Given the description of an element on the screen output the (x, y) to click on. 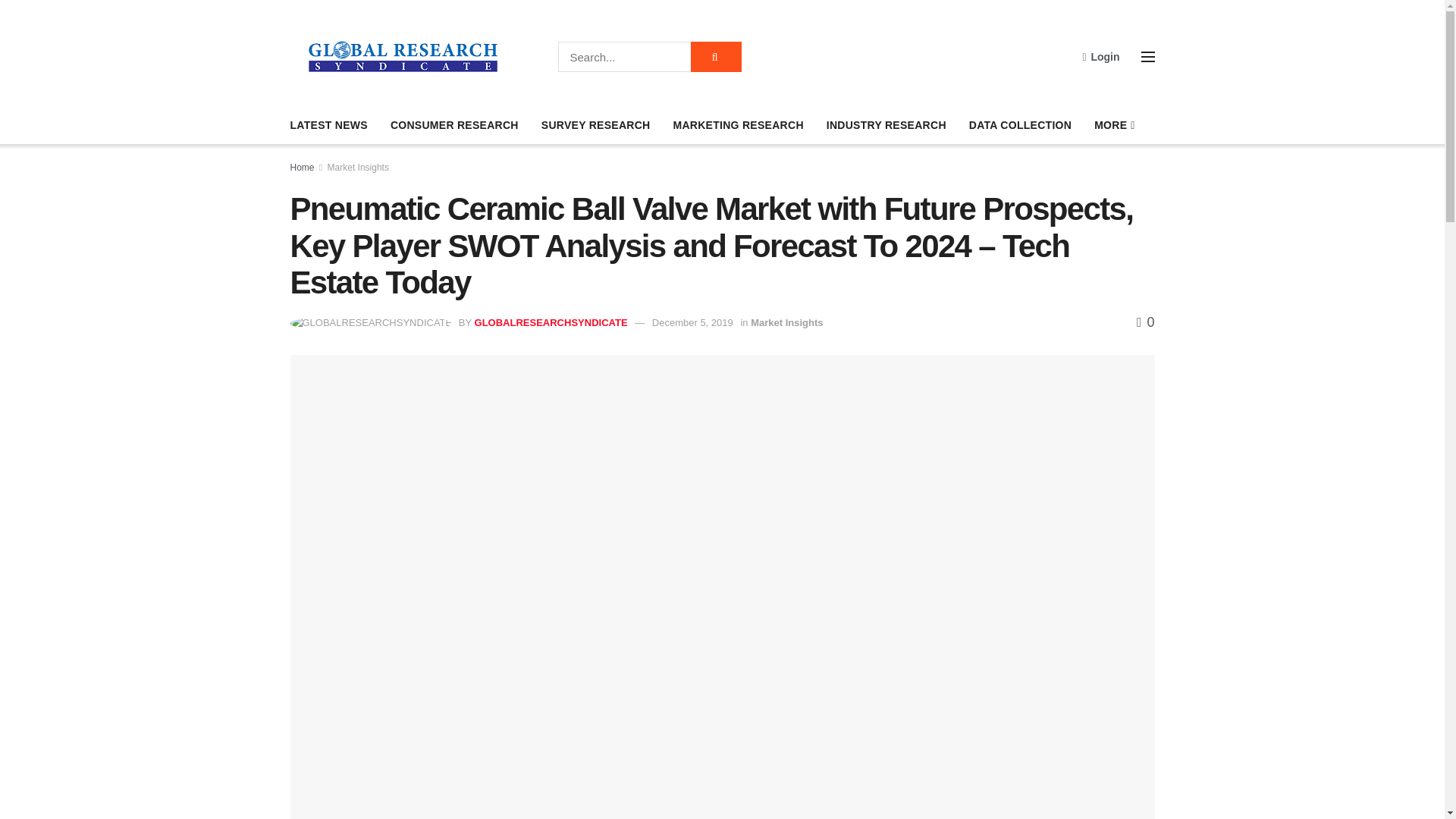
0 (1145, 322)
GLOBALRESEARCHSYNDICATE (550, 322)
SURVEY RESEARCH (595, 124)
Login (1100, 56)
LATEST NEWS (327, 124)
MARKETING RESEARCH (737, 124)
Market Insights (786, 322)
December 5, 2019 (692, 322)
DATA COLLECTION (1020, 124)
Market Insights (357, 167)
CONSUMER RESEARCH (454, 124)
MORE (1113, 124)
Home (301, 167)
INDUSTRY RESEARCH (886, 124)
